Given the description of an element on the screen output the (x, y) to click on. 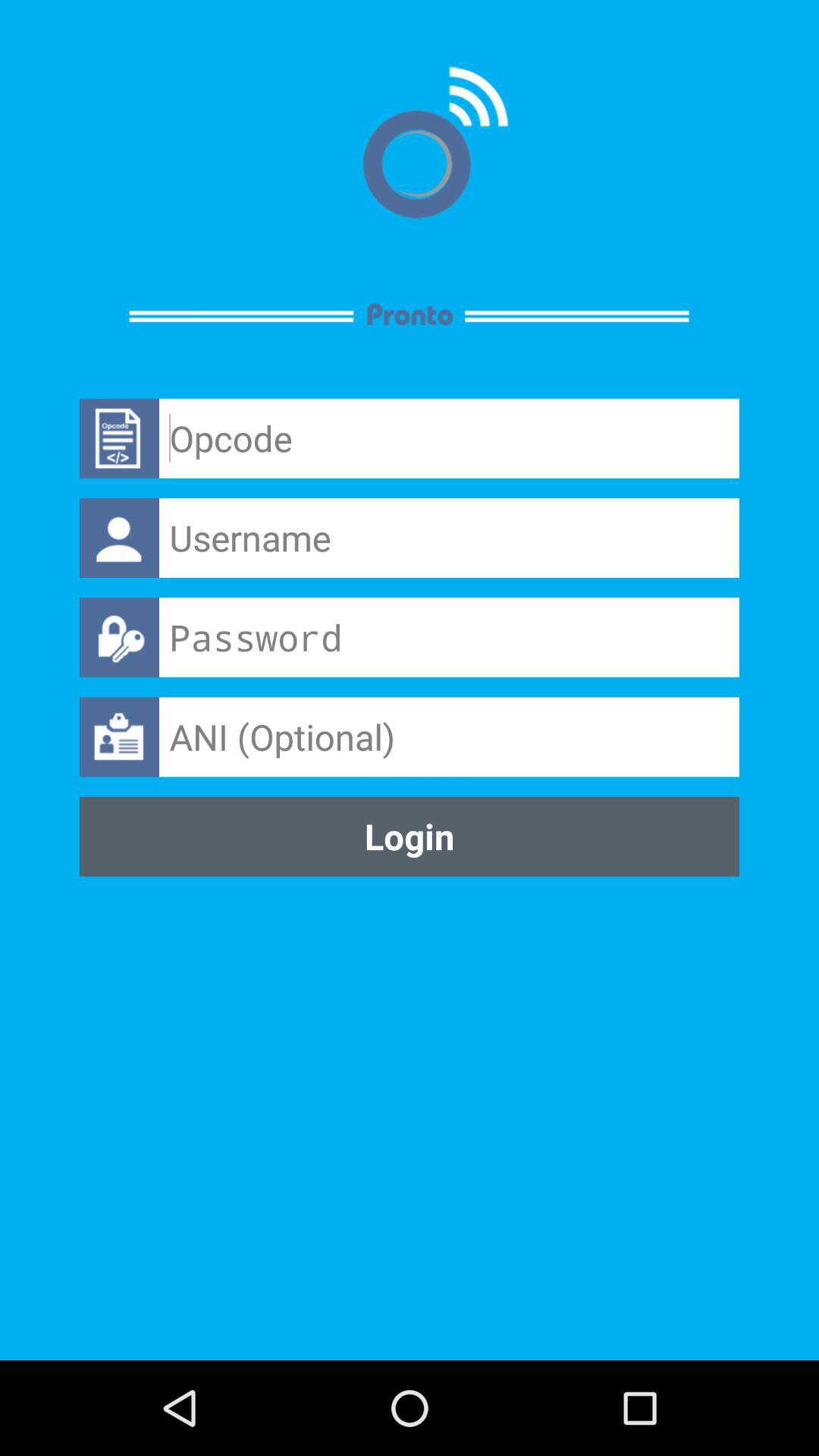
username input (449, 537)
